Given the description of an element on the screen output the (x, y) to click on. 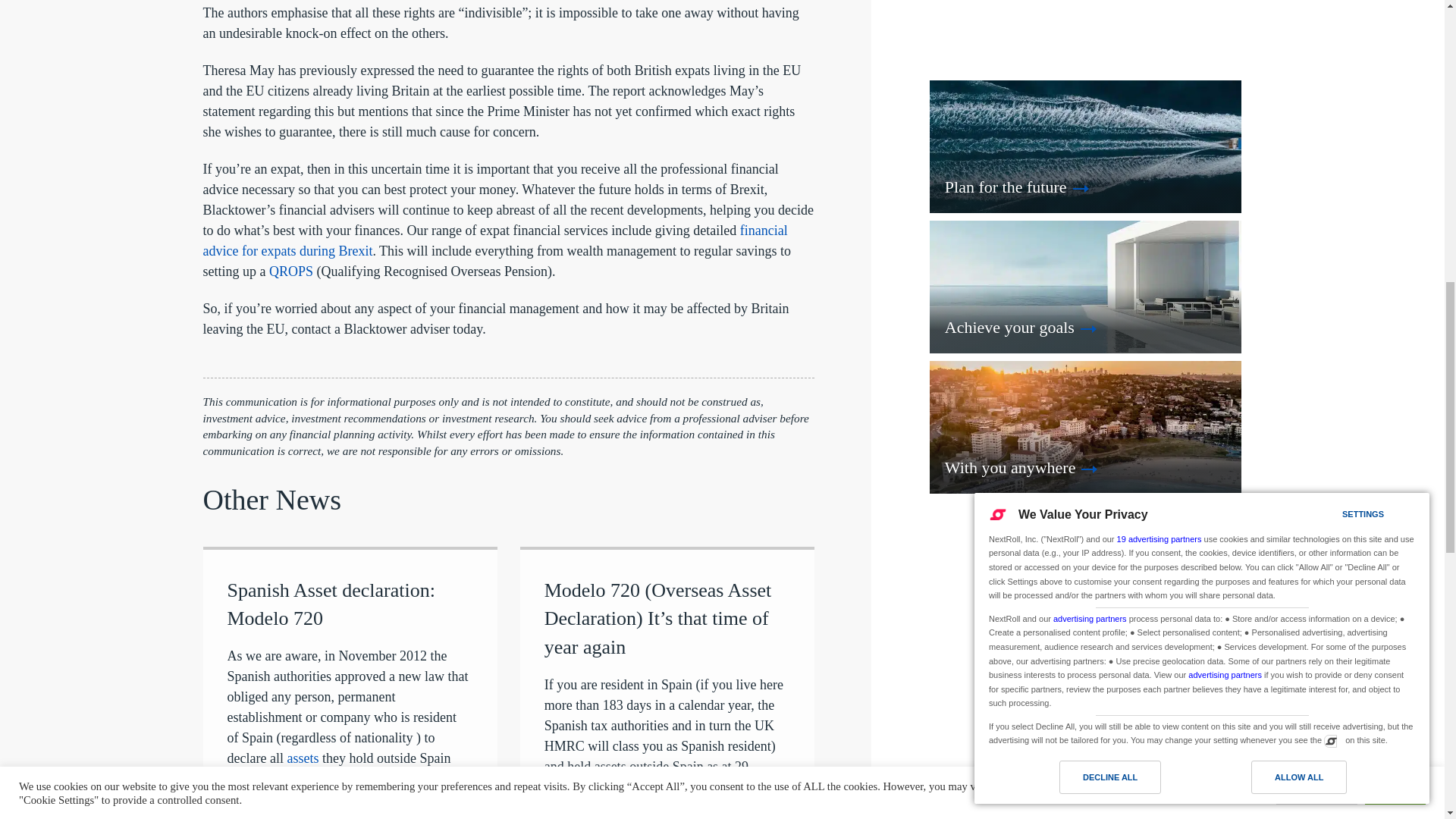
financial advice for expats during Brexit (495, 240)
QROPS (291, 271)
Spanish Asset declaration: Modelo 720 (331, 604)
